Given the description of an element on the screen output the (x, y) to click on. 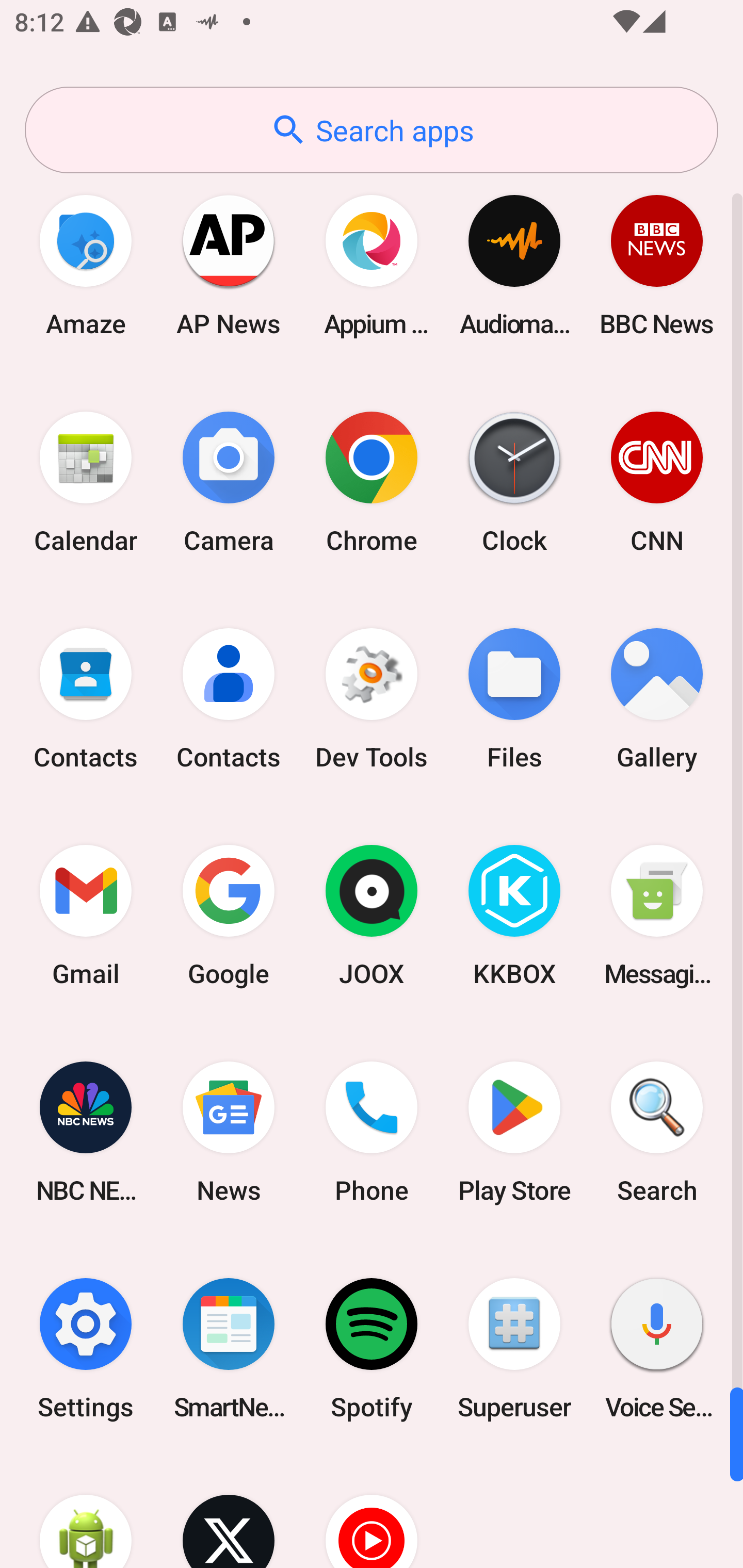
  Search apps (371, 130)
Amaze (85, 264)
AP News (228, 264)
Appium Settings (371, 264)
Audio­mack (514, 264)
BBC News (656, 264)
Calendar (85, 482)
Camera (228, 482)
Chrome (371, 482)
Clock (514, 482)
CNN (656, 482)
Contacts (85, 699)
Contacts (228, 699)
Dev Tools (371, 699)
Files (514, 699)
Gallery (656, 699)
Gmail (85, 915)
Google (228, 915)
JOOX (371, 915)
KKBOX (514, 915)
Messaging (656, 915)
NBC NEWS (85, 1131)
News (228, 1131)
Phone (371, 1131)
Play Store (514, 1131)
Search (656, 1131)
Settings (85, 1348)
SmartNews (228, 1348)
Spotify (371, 1348)
Superuser (514, 1348)
Voice Search (656, 1348)
